Given the description of an element on the screen output the (x, y) to click on. 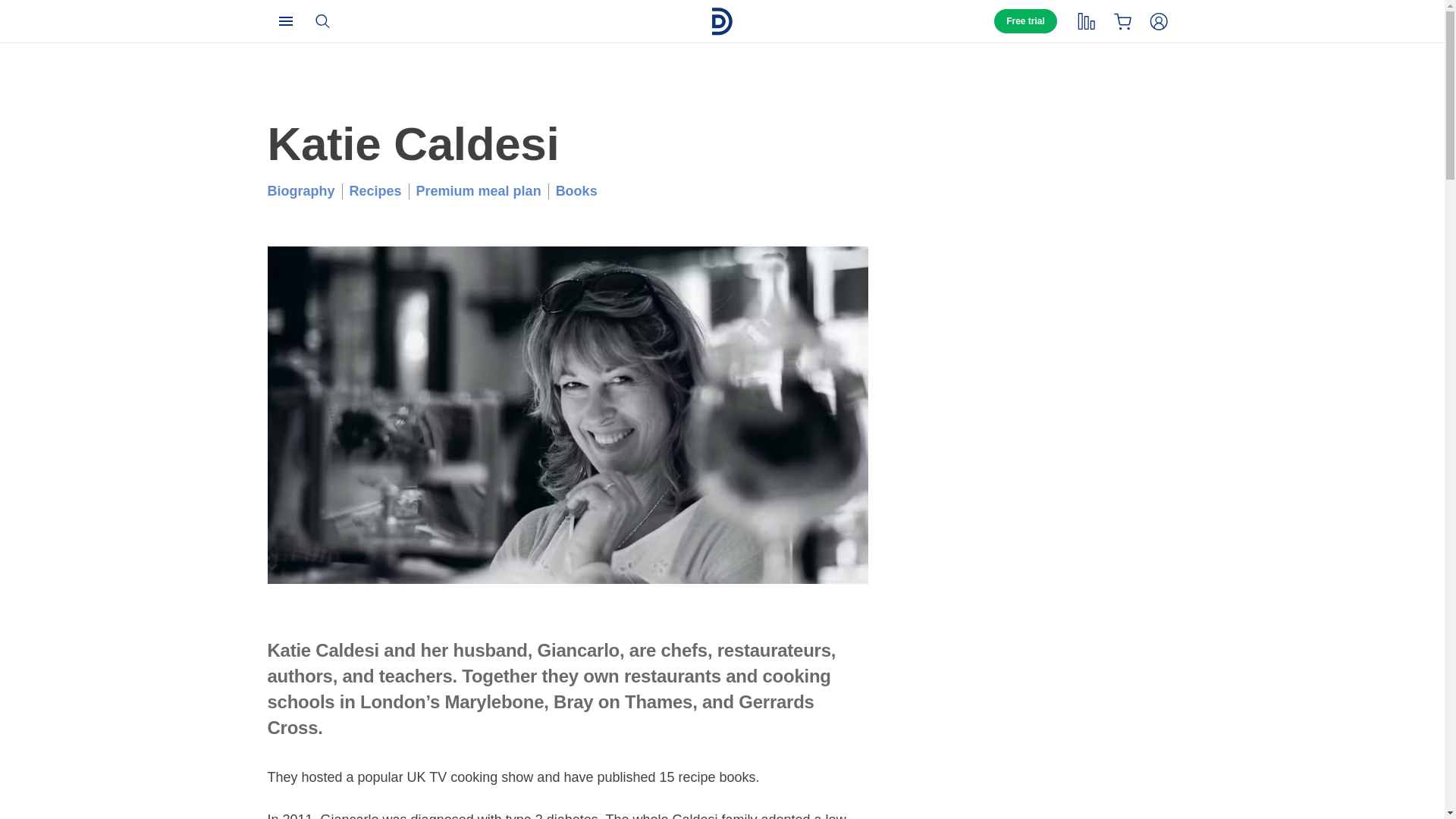
Home page (721, 21)
Menu (284, 20)
Biography (301, 191)
Free trial (1025, 21)
Books (576, 191)
Recipes (375, 191)
Free trial (1025, 21)
My tracking (1085, 20)
Premium meal plan (478, 191)
Login (1157, 20)
